Given the description of an element on the screen output the (x, y) to click on. 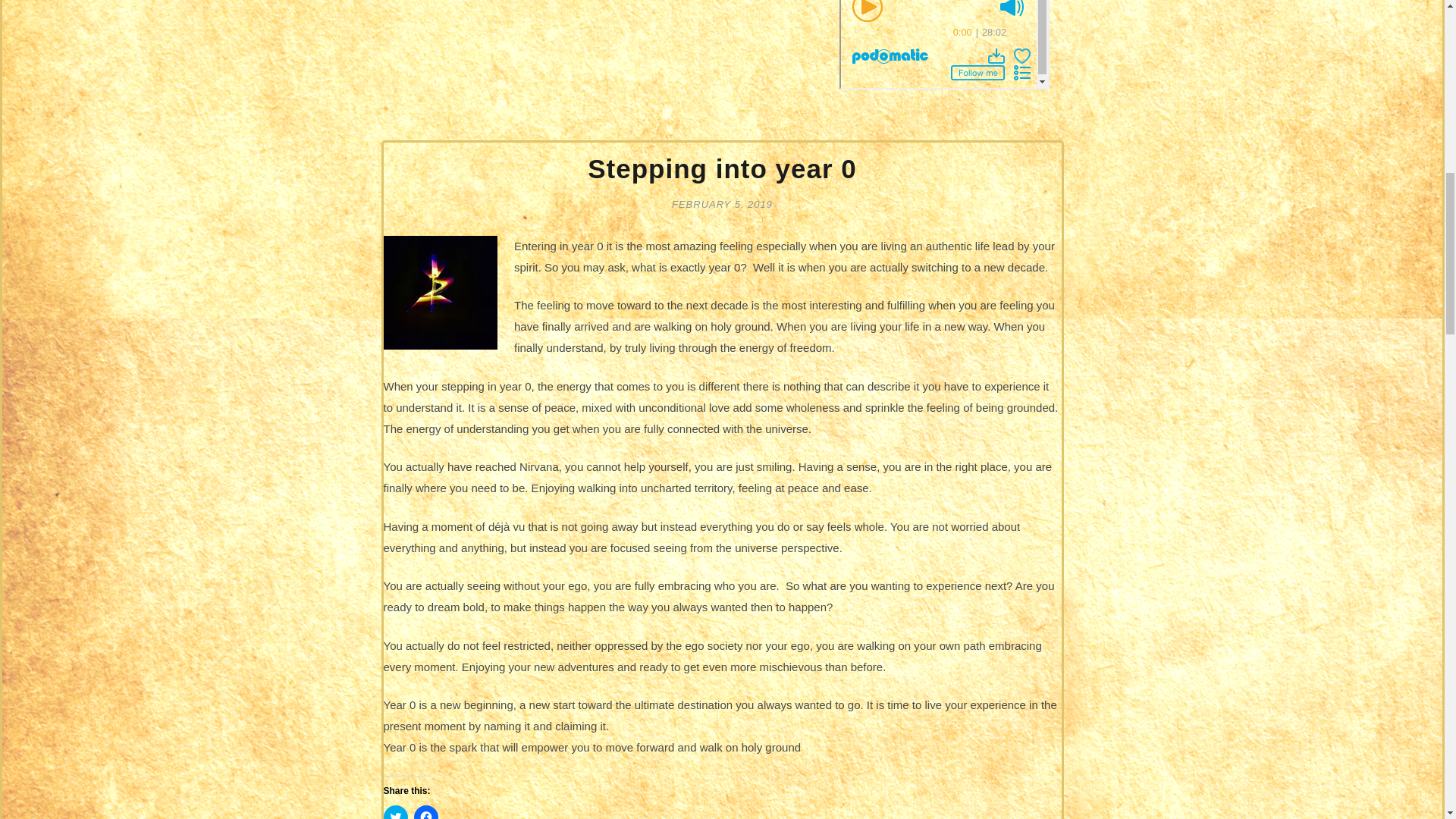
FEBRUARY 5, 2019 (722, 203)
Click to share on Twitter (395, 812)
Click to share on Facebook (425, 812)
